Given the description of an element on the screen output the (x, y) to click on. 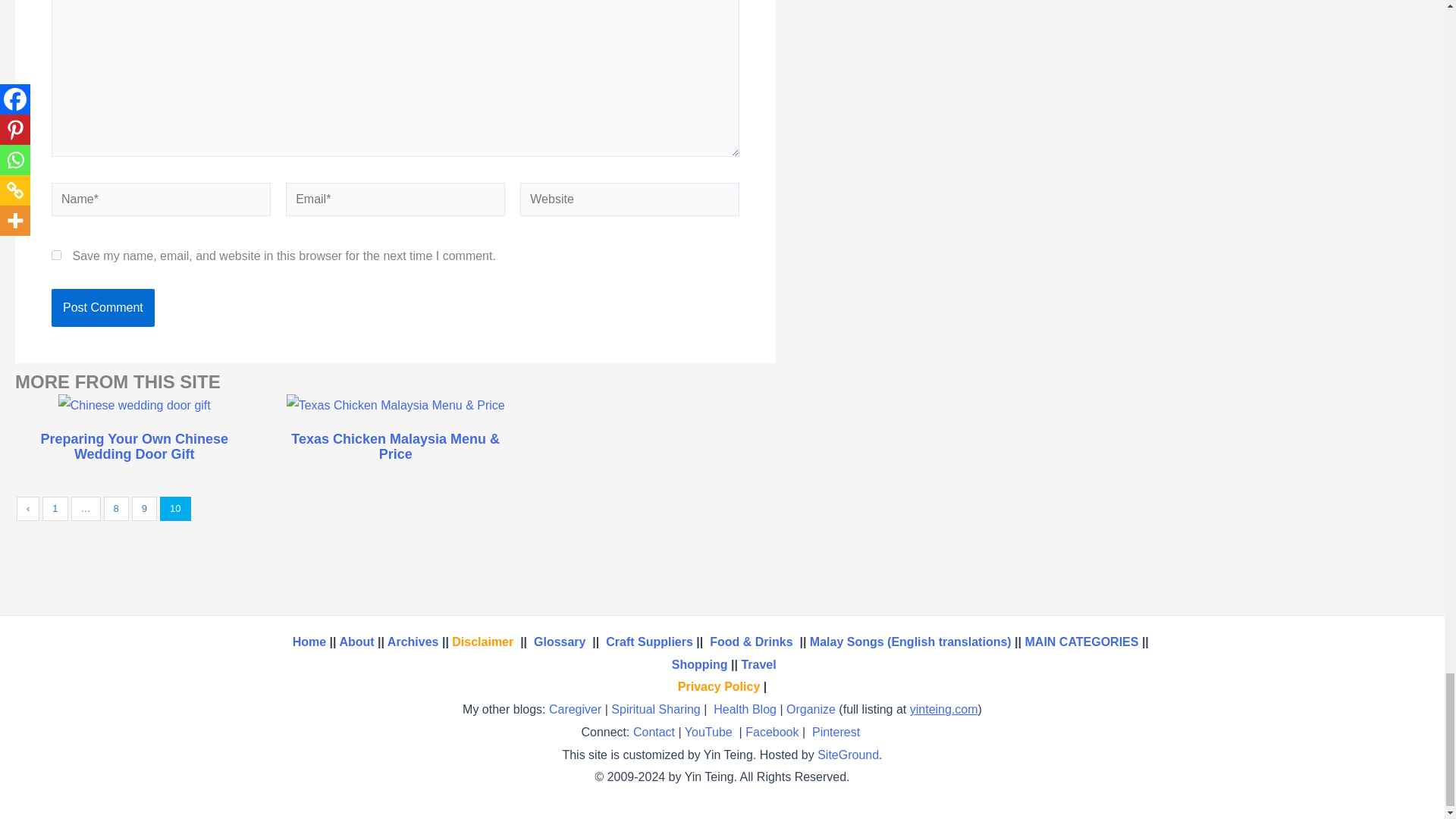
Preparing Your Own Chinese Wedding Door Gift (133, 447)
Post Comment (102, 307)
Post Comment (102, 307)
yes (55, 255)
